Given the description of an element on the screen output the (x, y) to click on. 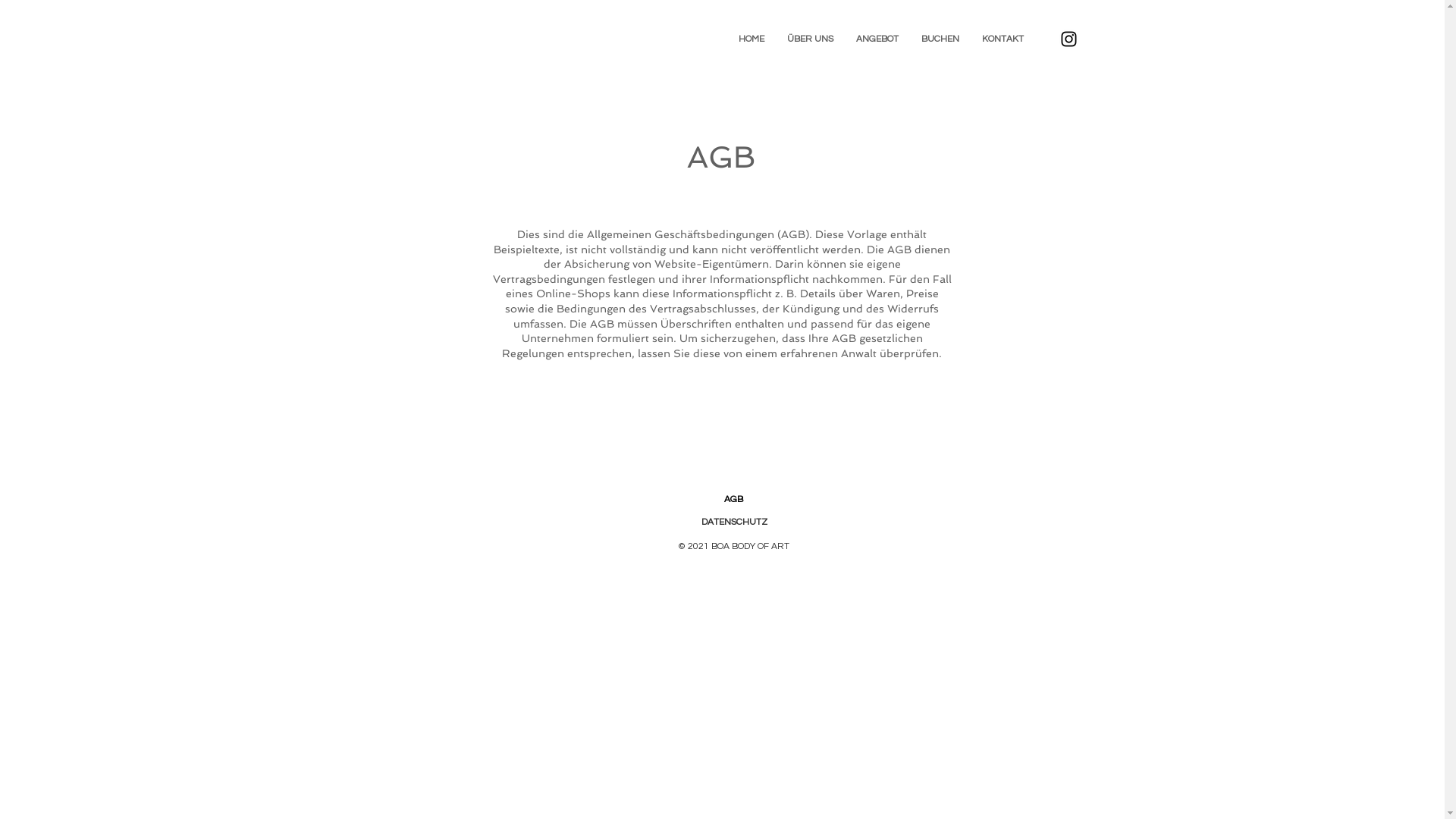
HOME Element type: text (750, 38)
KONTAKT Element type: text (1002, 38)
DATENSCHUTZ Element type: text (733, 522)
ANGEBOT Element type: text (877, 38)
AGB Element type: text (733, 499)
BUCHEN Element type: text (940, 38)
